Given the description of an element on the screen output the (x, y) to click on. 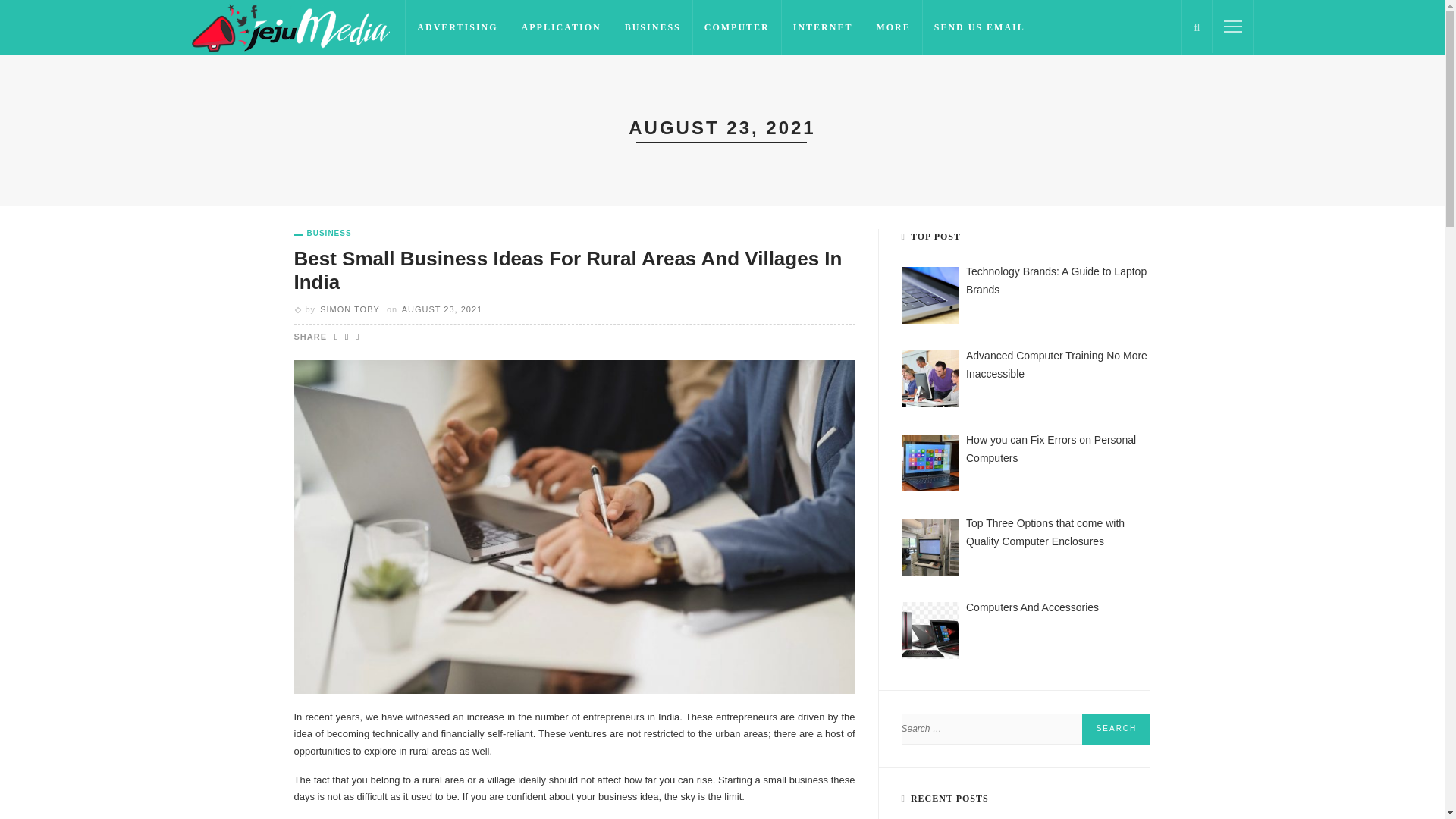
Business (323, 233)
COMPUTER (737, 27)
ADVERTISING (456, 27)
BUSINESS (652, 27)
SEND US EMAIL (979, 27)
APPLICATION (561, 27)
INTERNET (822, 27)
BUSINESS (323, 233)
Technology Brands: A Guide to Laptop Brands (1056, 280)
MORE (892, 27)
Search (1115, 728)
SIMON TOBY (350, 308)
